Given the description of an element on the screen output the (x, y) to click on. 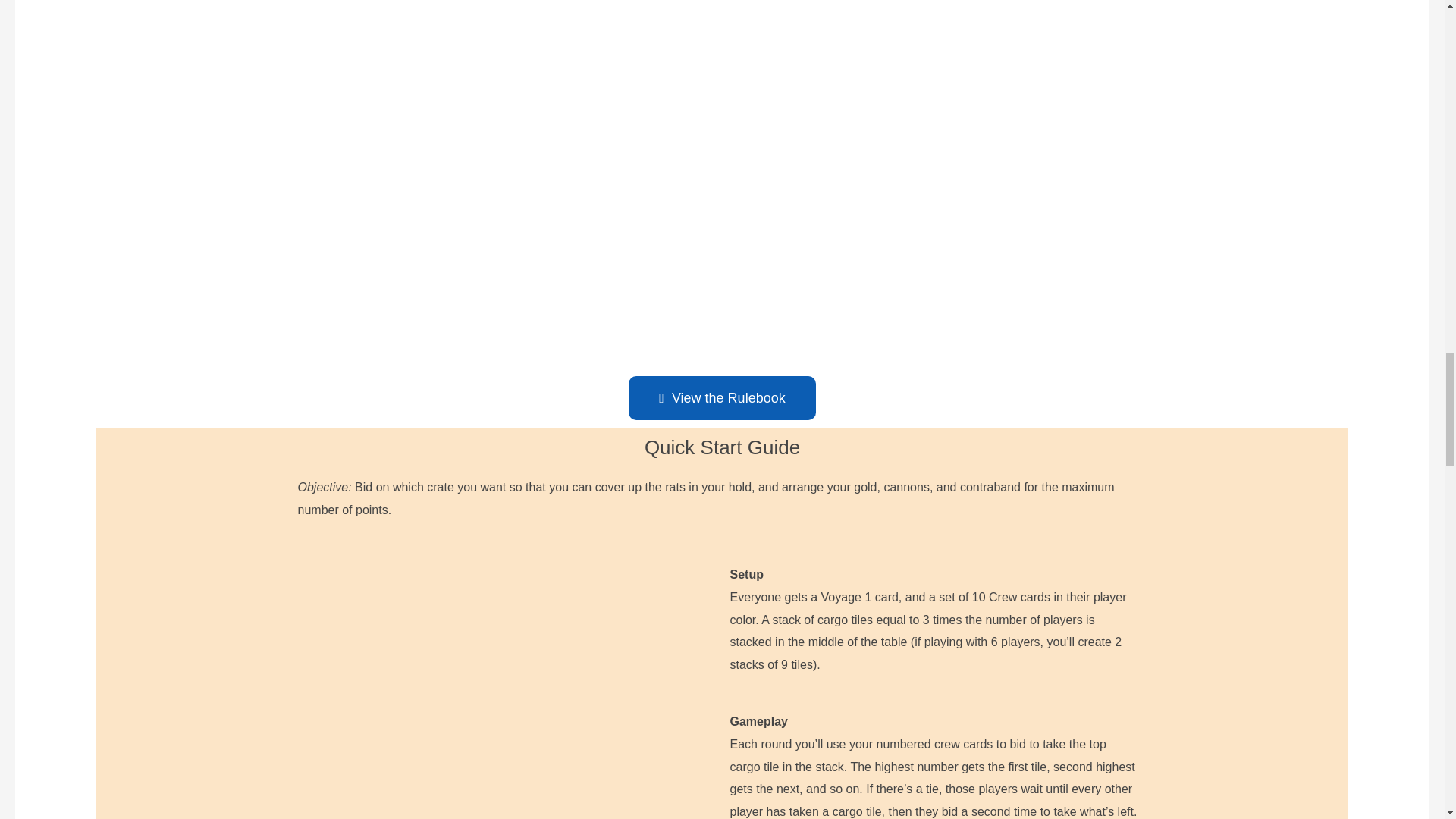
View the Rulebook (721, 397)
